Given the description of an element on the screen output the (x, y) to click on. 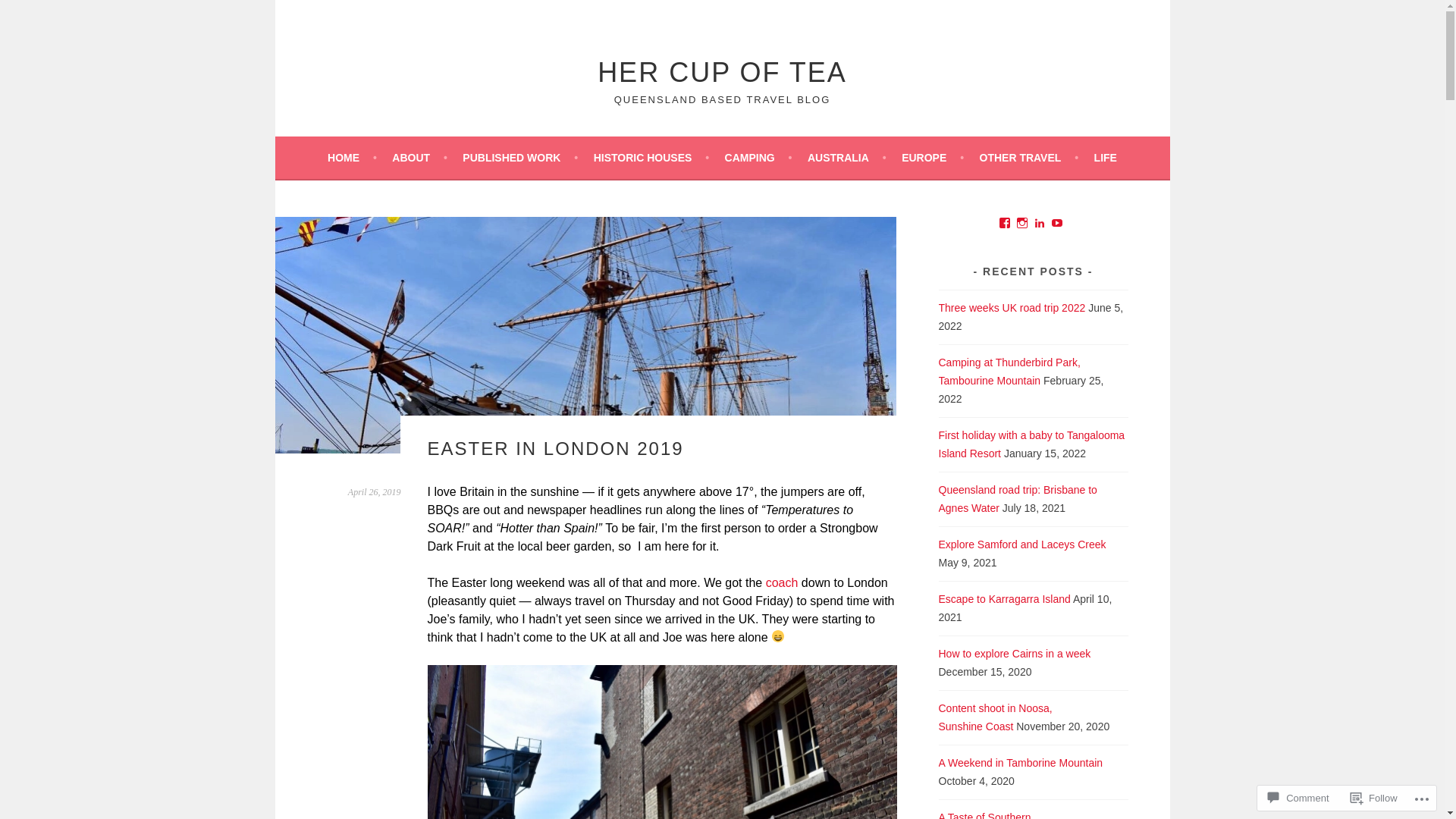
Follow Element type: text (1373, 797)
Explore Samford and Laceys Creek Element type: text (1022, 544)
LIFE Element type: text (1105, 157)
OTHER TRAVEL Element type: text (1029, 157)
CAMPING Element type: text (758, 157)
AUSTRALIA Element type: text (846, 157)
PUBLISHED WORK Element type: text (519, 157)
First holiday with a baby to Tangalooma Island Resort Element type: text (1031, 444)
A Weekend in Tamborine Mountain Element type: text (1020, 762)
April 26, 2019 Element type: text (374, 491)
HOME Element type: text (351, 157)
Three weeks UK road trip 2022 Element type: text (1011, 307)
coach Element type: text (781, 582)
Comment Element type: text (1297, 797)
HER CUP OF TEA Element type: text (722, 71)
Queensland road trip: Brisbane to Agnes Water Element type: text (1017, 498)
How to explore Cairns in a week Element type: text (1014, 653)
HISTORIC HOUSES Element type: text (651, 157)
Camping at Thunderbird Park, Tambourine Mountain Element type: text (1009, 371)
Escape to Karragarra Island Element type: text (1004, 599)
Content shoot in Noosa, Sunshine Coast Element type: text (995, 717)
EUROPE Element type: text (932, 157)
ABOUT Element type: text (419, 157)
